Given the description of an element on the screen output the (x, y) to click on. 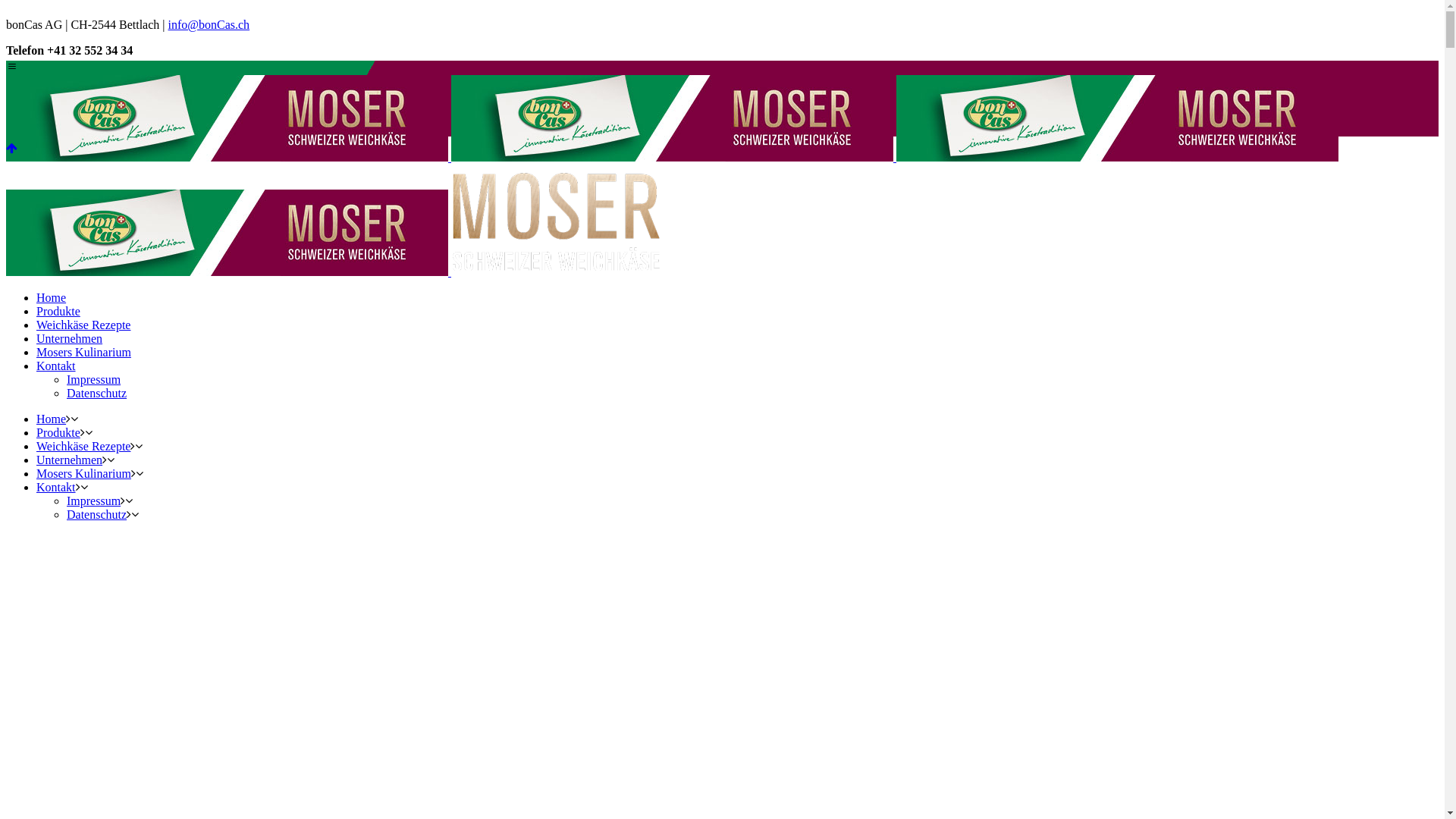
Produkte Element type: text (58, 310)
Impressum Element type: text (93, 379)
Datenschutz Element type: text (96, 392)
Datenschutz Element type: text (96, 514)
Unternehmen Element type: text (69, 338)
info@bonCas.ch Element type: text (209, 24)
Home Element type: text (50, 418)
Mosers Kulinarium Element type: text (83, 351)
Produkte Element type: text (58, 432)
Kontakt Element type: text (55, 486)
Mosers Kulinarium Element type: text (83, 473)
Impressum Element type: text (93, 500)
Home Element type: text (50, 297)
Kontakt Element type: text (55, 365)
Unternehmen Element type: text (69, 459)
